Given the description of an element on the screen output the (x, y) to click on. 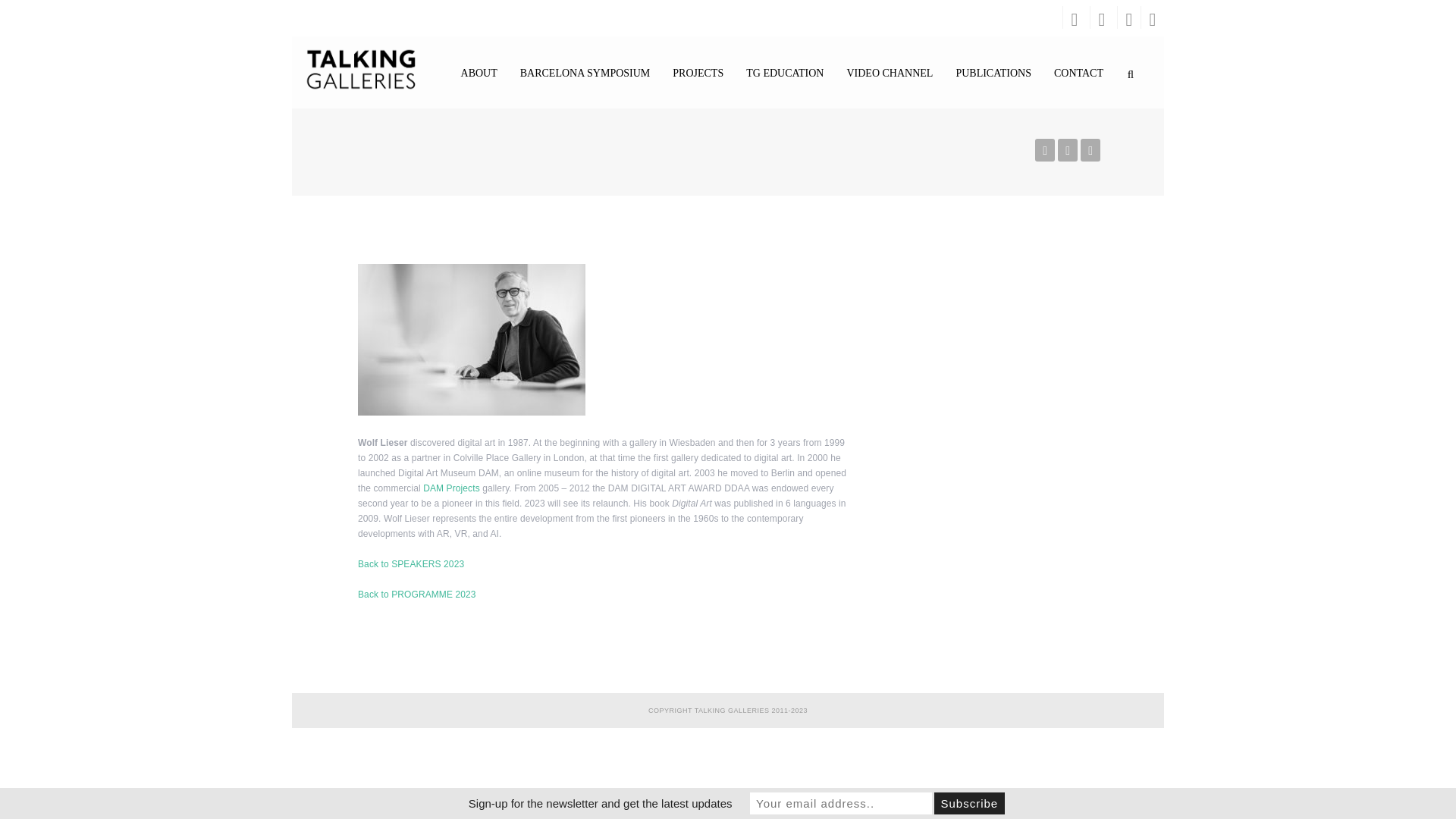
Gallery (1069, 150)
ABOUT (478, 73)
Next (1090, 150)
Previous (1046, 150)
